Given the description of an element on the screen output the (x, y) to click on. 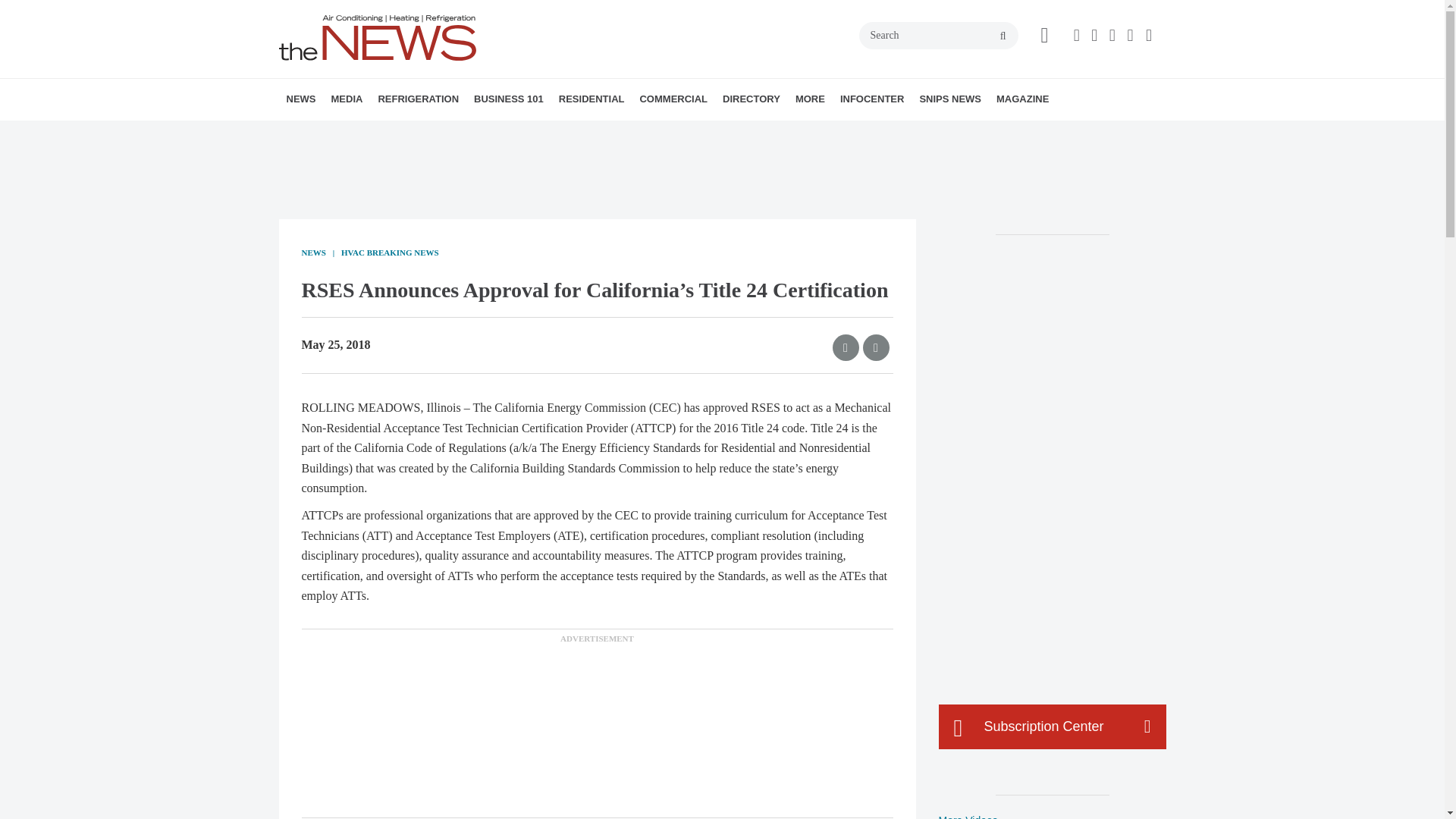
AHR EXPO 2024 VIDEOS (424, 132)
NEWS (301, 98)
search (1002, 36)
REFRIGERANTS (464, 132)
PODCASTS (430, 132)
REFRIGERATION (417, 98)
DUCTWORD PUZZLE (449, 132)
VIDEOS (417, 132)
BUSINESS 101 (508, 98)
REFRIGERANT REGULATIONS (472, 132)
THE NEWS HVACR QUIZ (445, 132)
BREAKING NEWS (373, 132)
MEDIA (346, 98)
HVAC DATA (391, 132)
Search (938, 35)
